Given the description of an element on the screen output the (x, y) to click on. 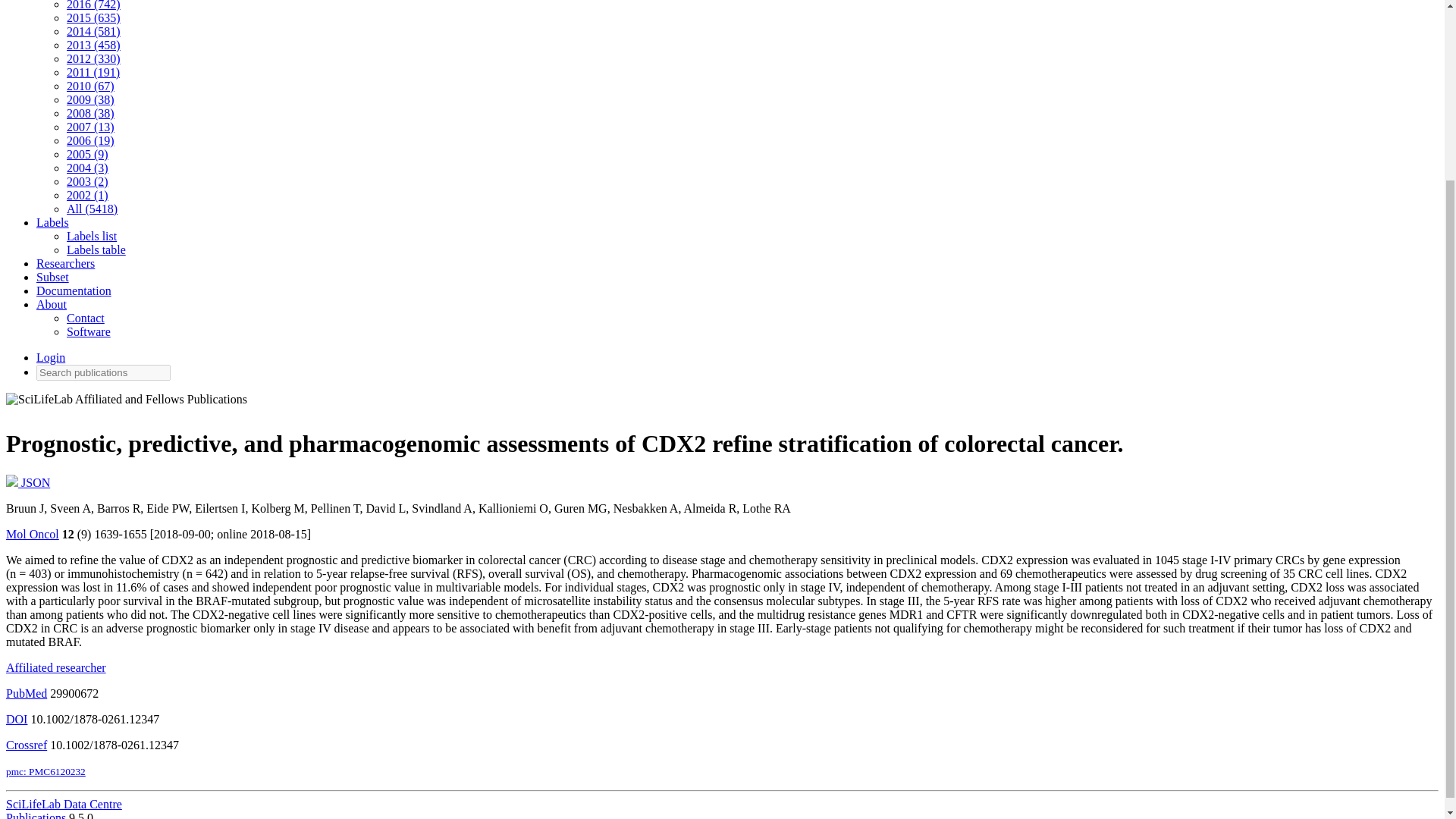
Login (50, 357)
Software (88, 331)
Subset (52, 277)
Researchers (65, 263)
About (51, 304)
Labels table (95, 249)
Contact (85, 318)
Documentation (74, 290)
Labels list (91, 236)
Labels (52, 222)
SciLifeLab Affiliated and Fellows Publications (126, 403)
